Given the description of an element on the screen output the (x, y) to click on. 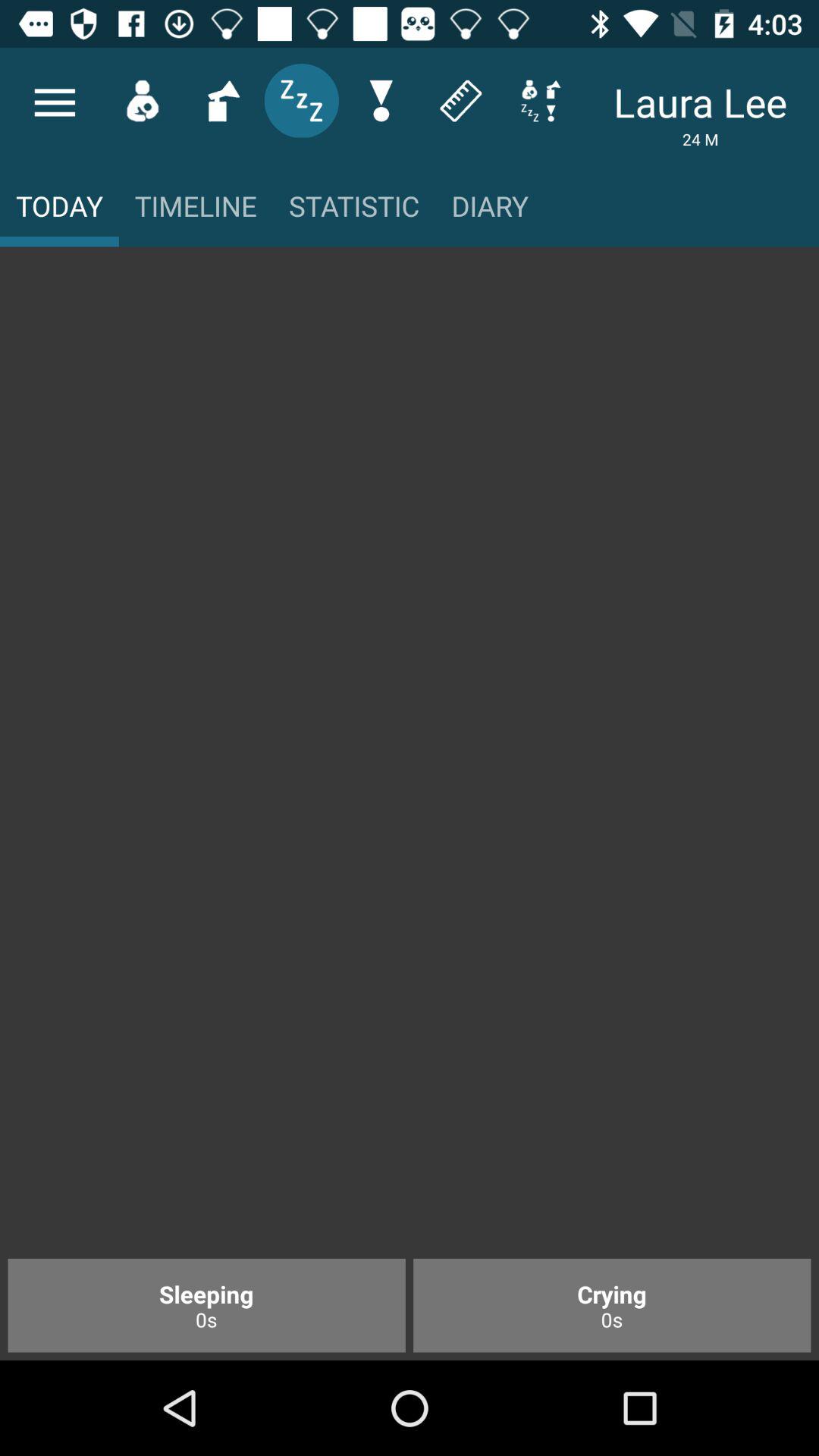
turn on item to the right of sleeping
0s icon (612, 1305)
